Given the description of an element on the screen output the (x, y) to click on. 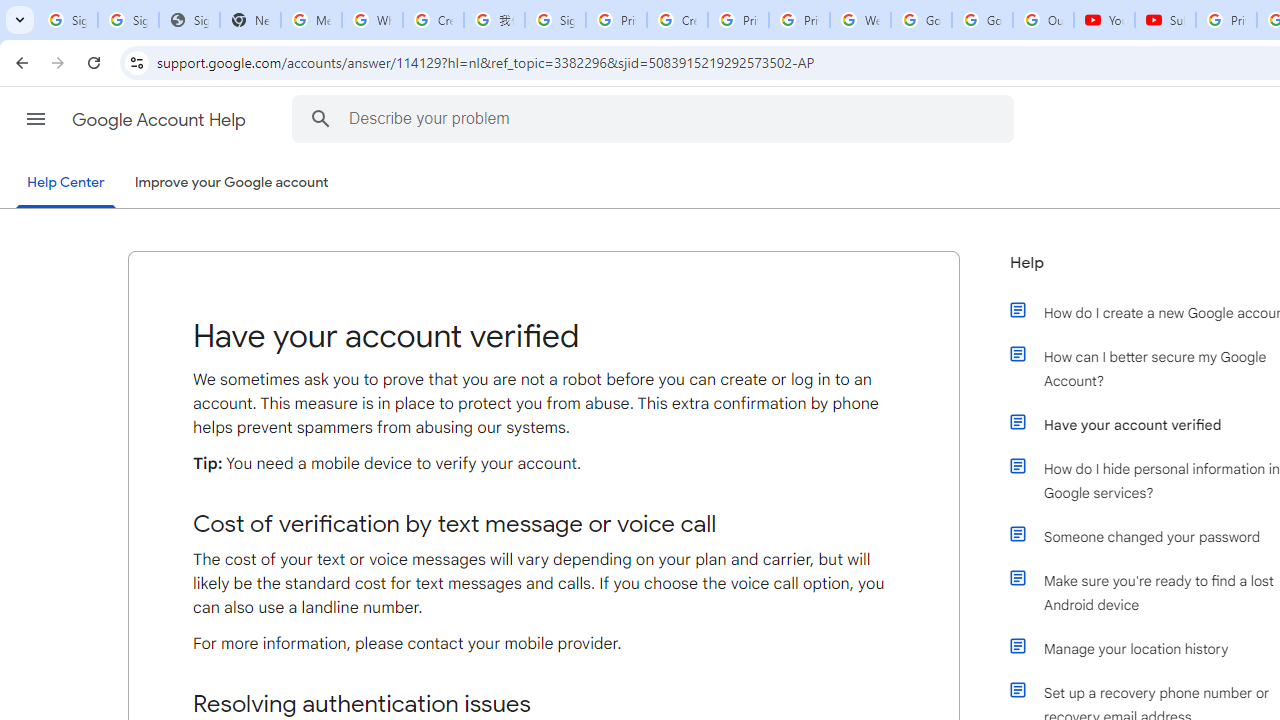
Create your Google Account (676, 20)
Describe your problem (655, 118)
Google Account Help (160, 119)
Sign in - Google Accounts (555, 20)
Welcome to My Activity (859, 20)
New Tab (250, 20)
Google Account (982, 20)
